Given the description of an element on the screen output the (x, y) to click on. 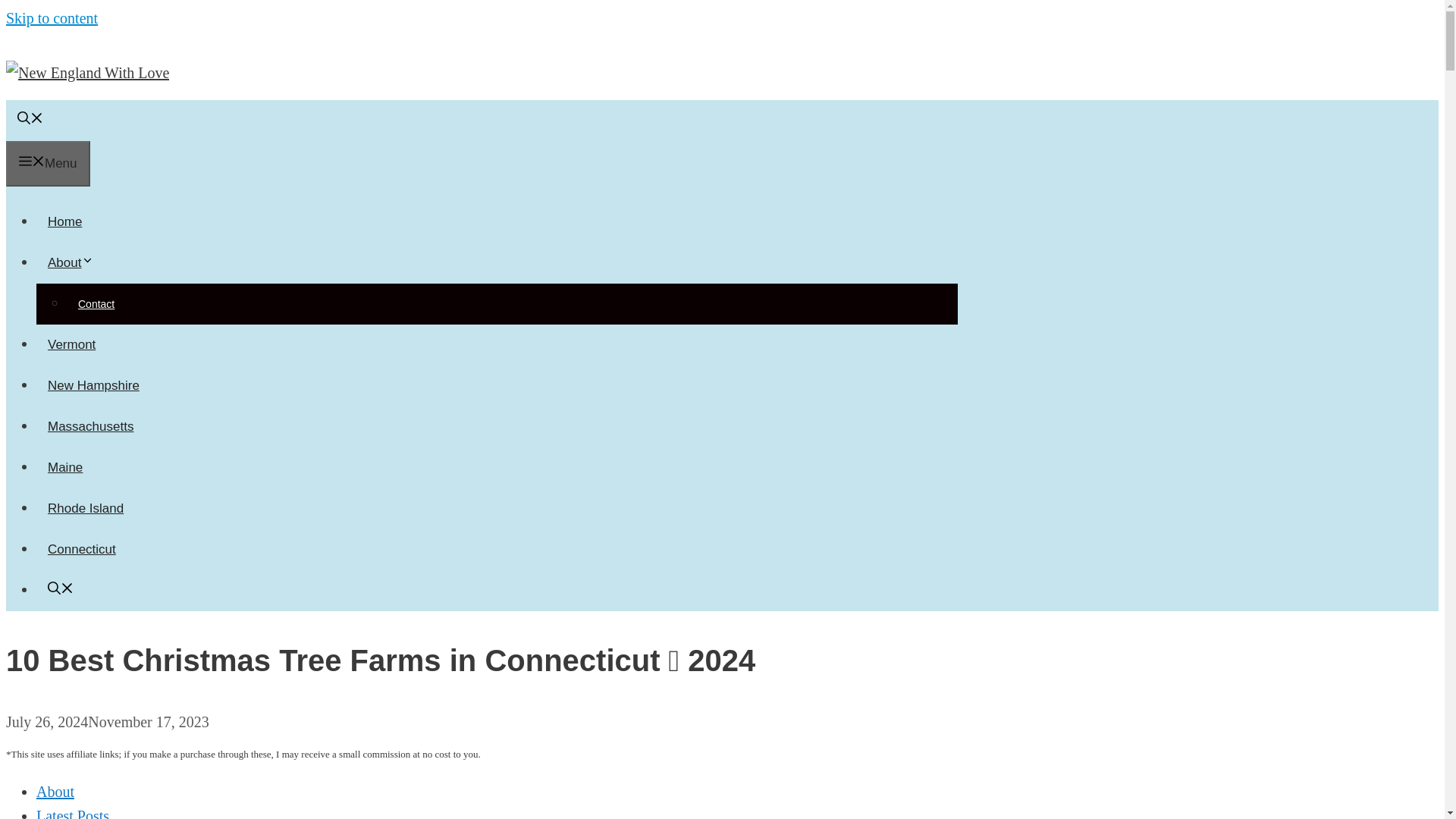
Skip to content (51, 17)
Home (64, 221)
Massachusetts (90, 426)
Connecticut (82, 549)
Menu (47, 163)
Latest Posts (72, 813)
About (76, 262)
Maine (65, 467)
About (55, 791)
Rhode Island (85, 508)
Vermont (71, 344)
New Hampshire (93, 385)
Skip to content (51, 17)
Contact (95, 303)
